Given the description of an element on the screen output the (x, y) to click on. 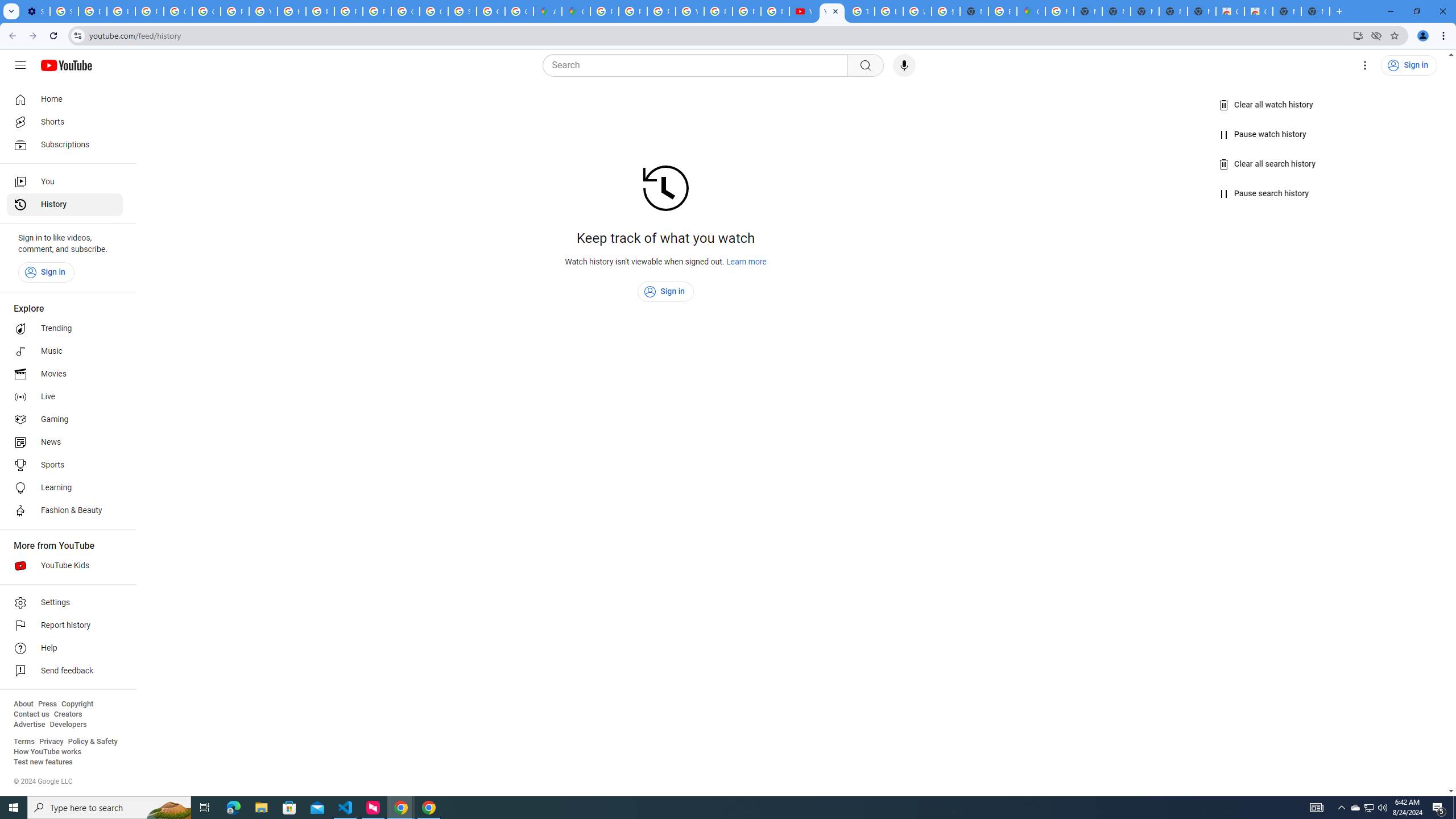
Privacy Help Center - Policies Help (320, 11)
New Tab (973, 11)
Sign in - Google Accounts (63, 11)
